Given the description of an element on the screen output the (x, y) to click on. 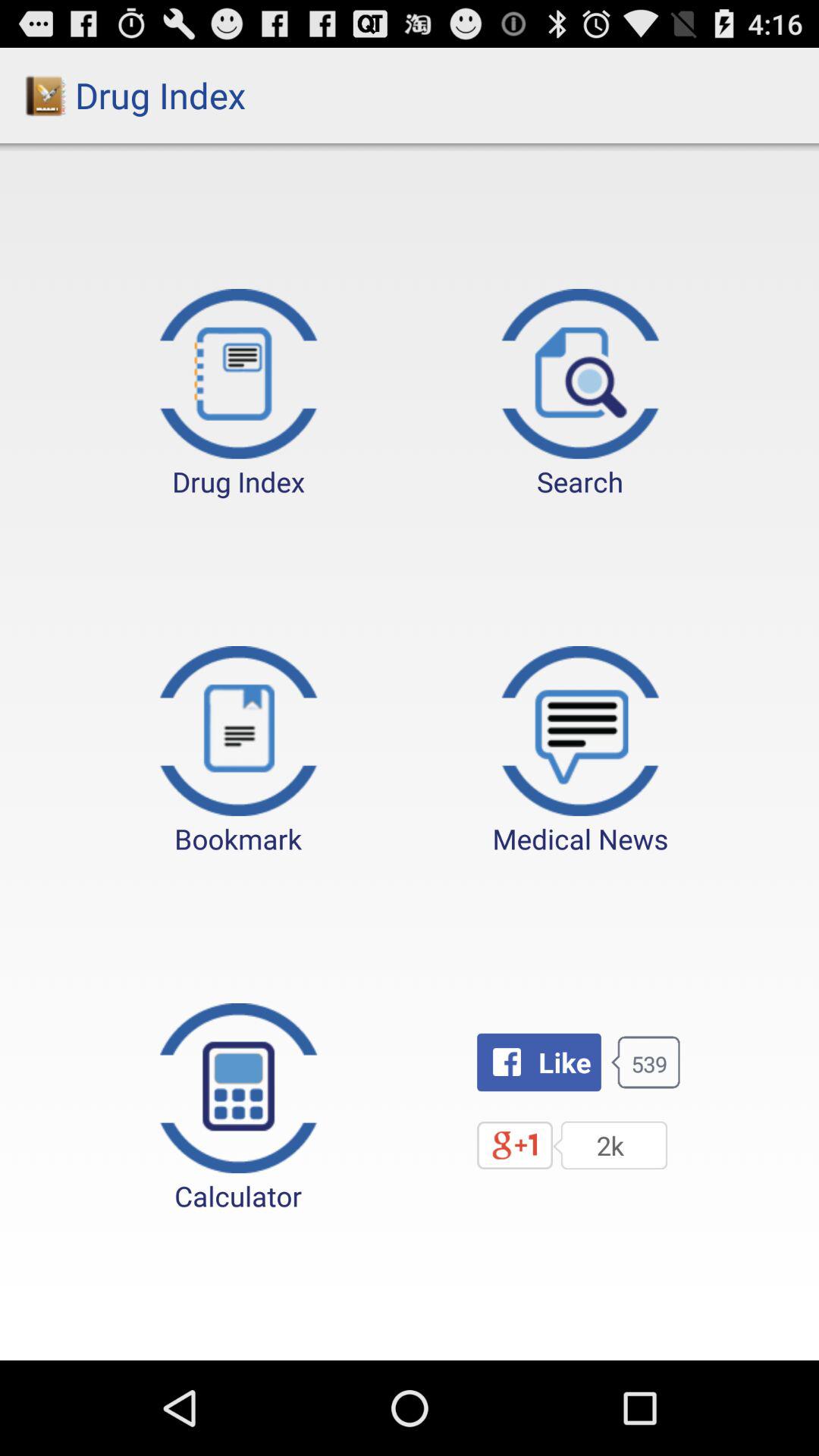
open the like item (539, 1062)
